Given the description of an element on the screen output the (x, y) to click on. 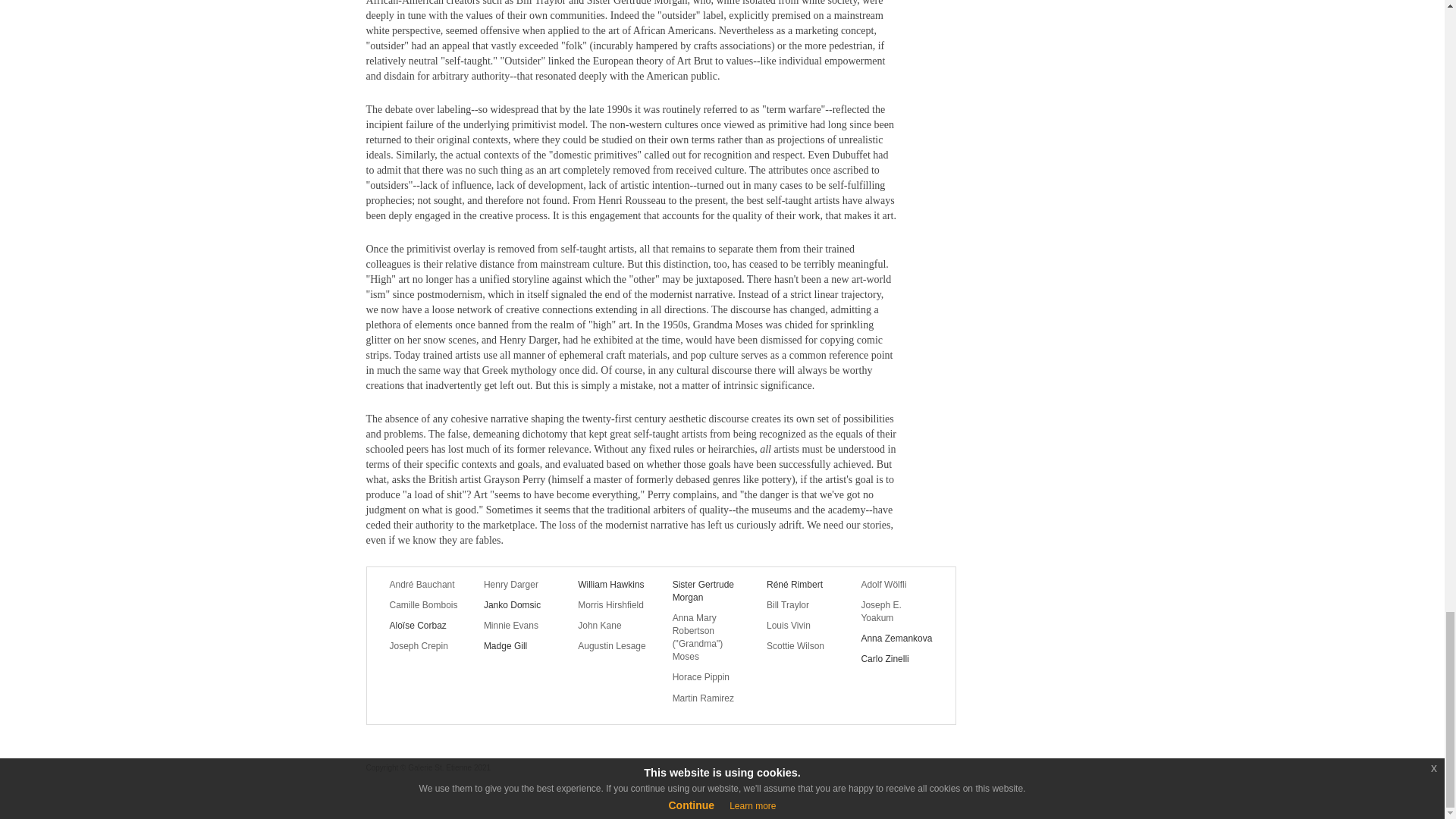
Horace Pippin (708, 676)
John Kane (613, 625)
Henry Darger (518, 584)
Morris Hirshfield (613, 604)
Joseph Crepin (425, 645)
Louis Vivin (802, 625)
Augustin Lesage (613, 645)
Joseph E. Yoakum (895, 611)
Bill Traylor (802, 604)
Minnie Evans (518, 625)
